Given the description of an element on the screen output the (x, y) to click on. 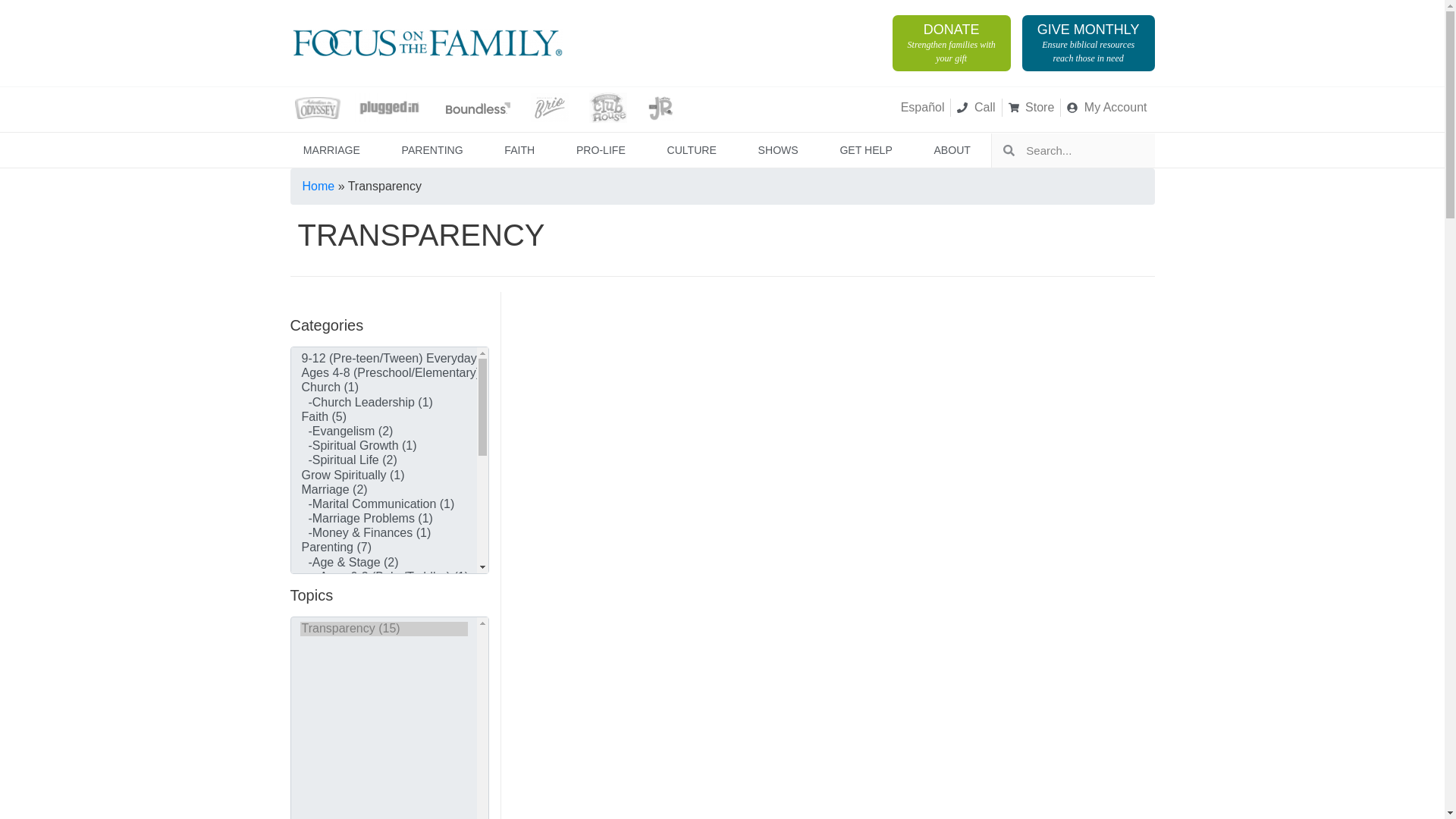
Brio (550, 107)
PRO-LIFE (601, 149)
Store (1031, 107)
Focus on the Family Clubhouse (607, 107)
PARENTING (951, 43)
Call (431, 149)
My Account (975, 107)
MARRIAGE (1107, 107)
